Given the description of an element on the screen output the (x, y) to click on. 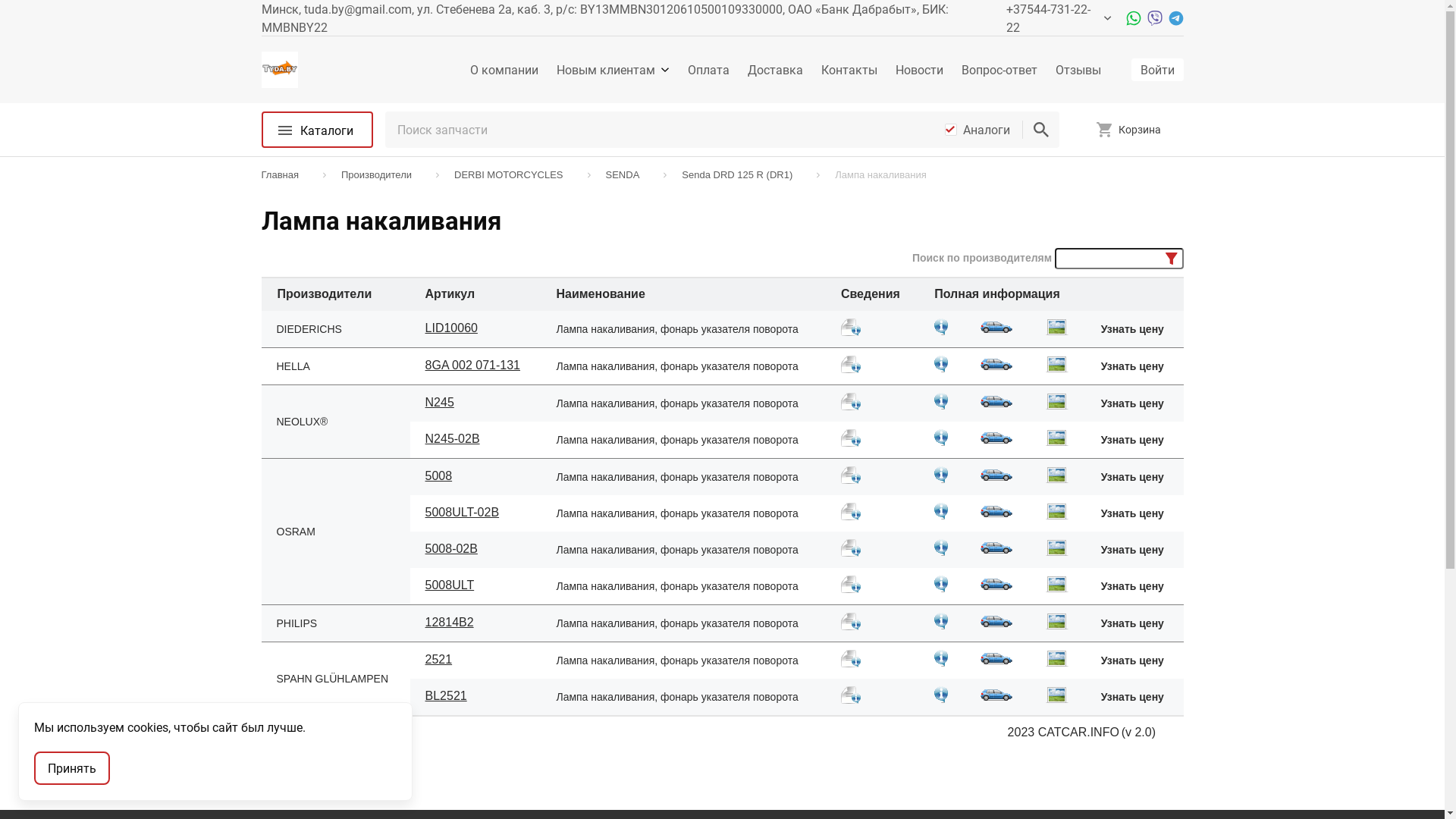
5008-02B Element type: text (475, 549)
5008ULT Element type: text (475, 586)
8GA 002 071-131 Element type: text (472, 364)
N245-02B Element type: text (475, 439)
N245-02B Element type: text (452, 438)
12814B2 Element type: text (449, 621)
5008ULT Element type: text (449, 584)
SENDA Element type: text (627, 175)
5008 Element type: text (475, 476)
N245 Element type: text (439, 401)
5008ULT-02B Element type: text (475, 513)
5008-02B Element type: text (451, 548)
8GA 002 071-131 Element type: text (475, 365)
2023 CATCAR.INFO Element type: text (1063, 731)
5008 Element type: text (438, 475)
BL2521 Element type: text (475, 696)
5008ULT-02B Element type: text (462, 511)
N245 Element type: text (475, 402)
LID10060 Element type: text (451, 327)
2521 Element type: text (475, 659)
2521 Element type: text (438, 658)
LID10060 Element type: text (475, 329)
DERBI MOTORCYCLES Element type: text (513, 175)
BL2521 Element type: text (446, 695)
(v 2.0) Element type: text (1138, 731)
12814B2 Element type: text (475, 622)
Senda DRD 125 R (DR1) Element type: text (741, 175)
